Given the description of an element on the screen output the (x, y) to click on. 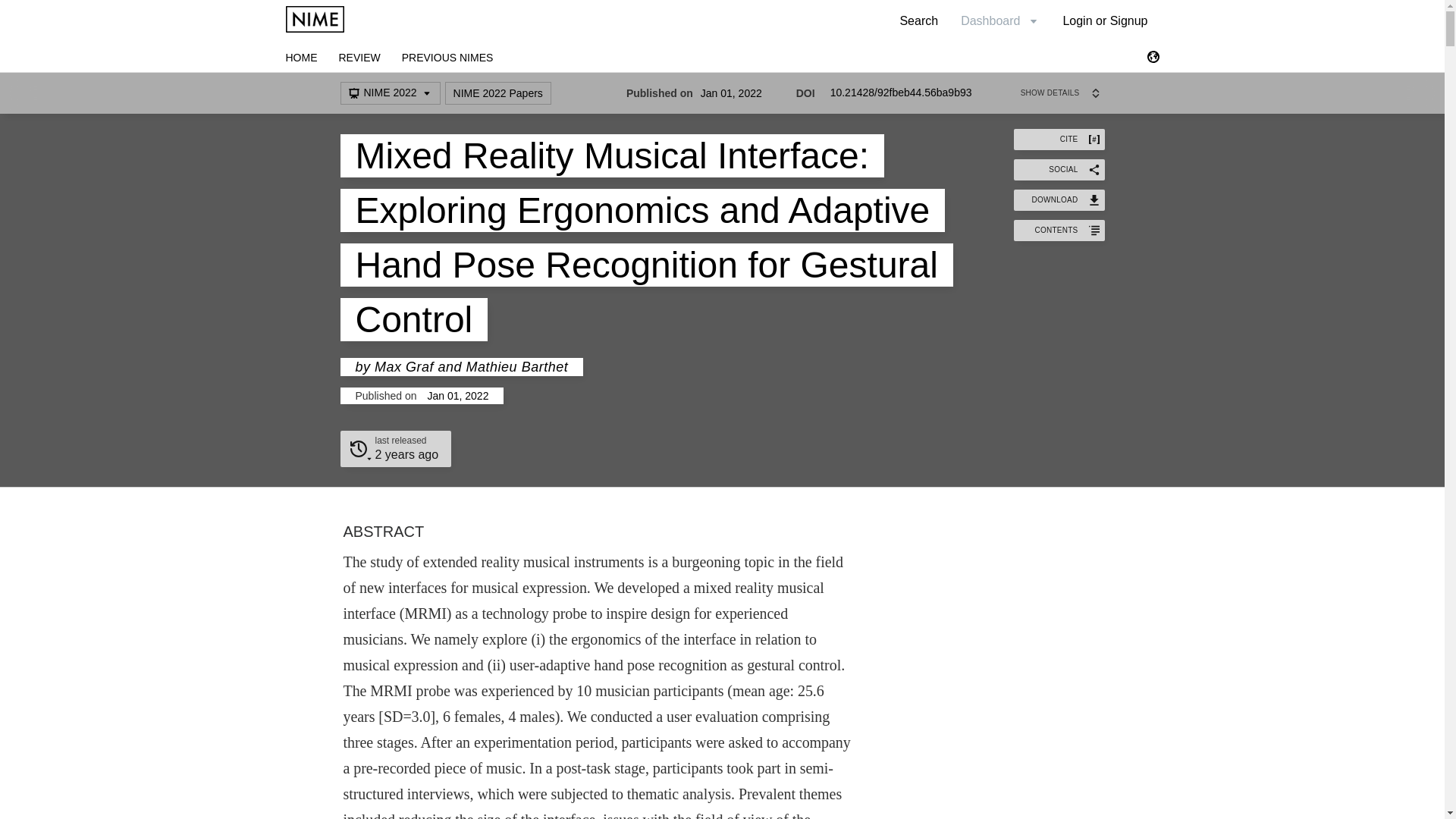
HOME (301, 57)
PREVIOUS NIMES (447, 57)
DOWNLOAD (1058, 199)
Dashboard (1000, 20)
REVIEW (358, 57)
NIME 2022 (389, 92)
SHOW DETAILS (1062, 93)
2022-06-16 10:49 (406, 454)
